Given the description of an element on the screen output the (x, y) to click on. 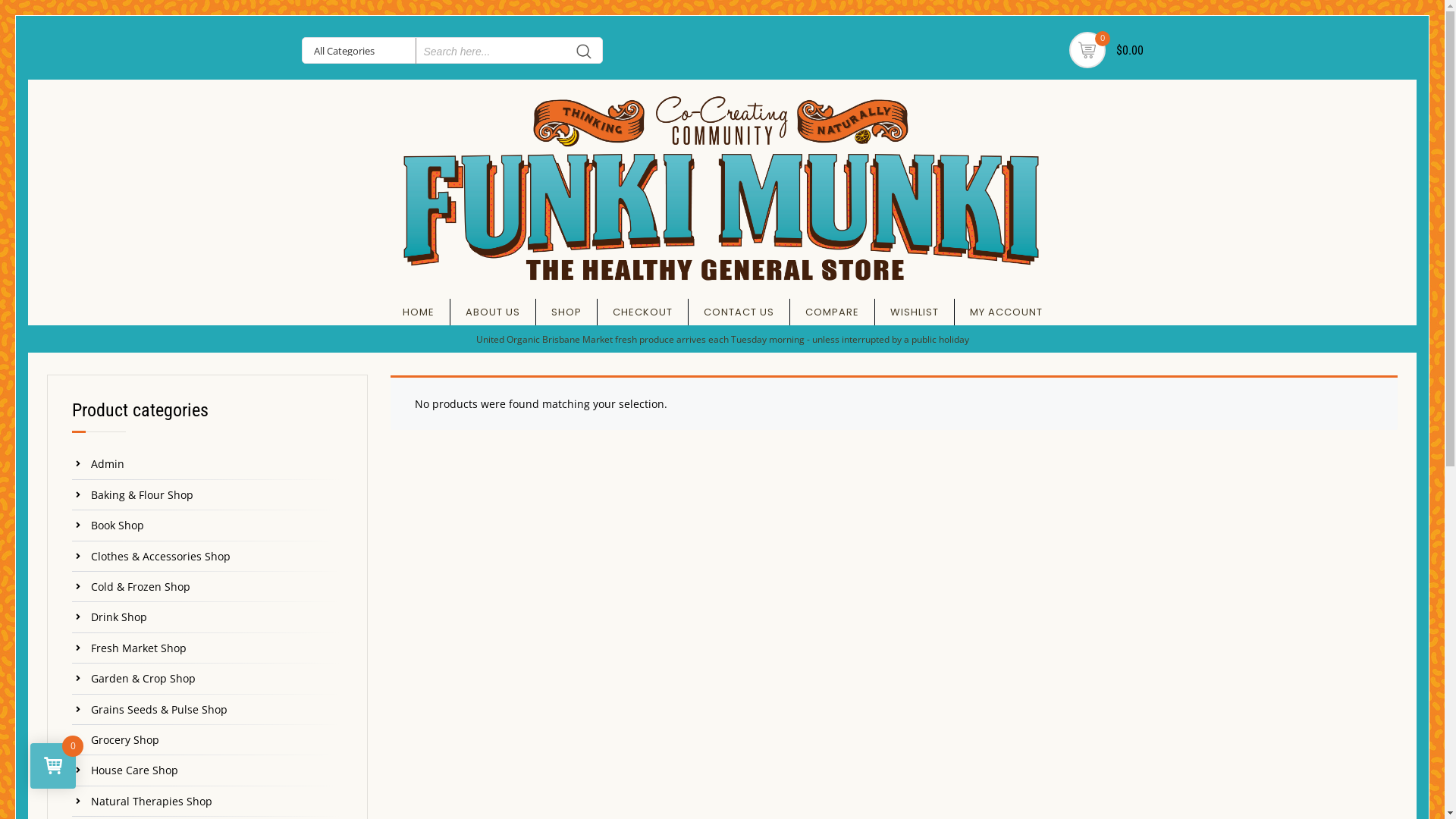
Cold & Frozen Shop Element type: text (216, 586)
COMPARE Element type: text (832, 311)
House Care Shop Element type: text (216, 770)
Admin Element type: text (216, 463)
WISHLIST Element type: text (914, 311)
CONTACT US Element type: text (739, 311)
Fresh Market Shop Element type: text (216, 647)
SHOP Element type: text (565, 311)
Grains Seeds & Pulse Shop Element type: text (216, 709)
Clothes & Accessories Shop Element type: text (216, 556)
Baking & Flour Shop Element type: text (216, 494)
HOME Element type: text (417, 311)
Book Shop Element type: text (216, 525)
ABOUT US Element type: text (493, 311)
Natural Therapies Shop Element type: text (216, 801)
CHECKOUT Element type: text (642, 311)
Drink Shop Element type: text (216, 616)
Grocery Shop Element type: text (216, 739)
0
$0.00 Element type: text (1087, 49)
Garden & Crop Shop Element type: text (216, 678)
MY ACCOUNT Element type: text (1005, 311)
